Given the description of an element on the screen output the (x, y) to click on. 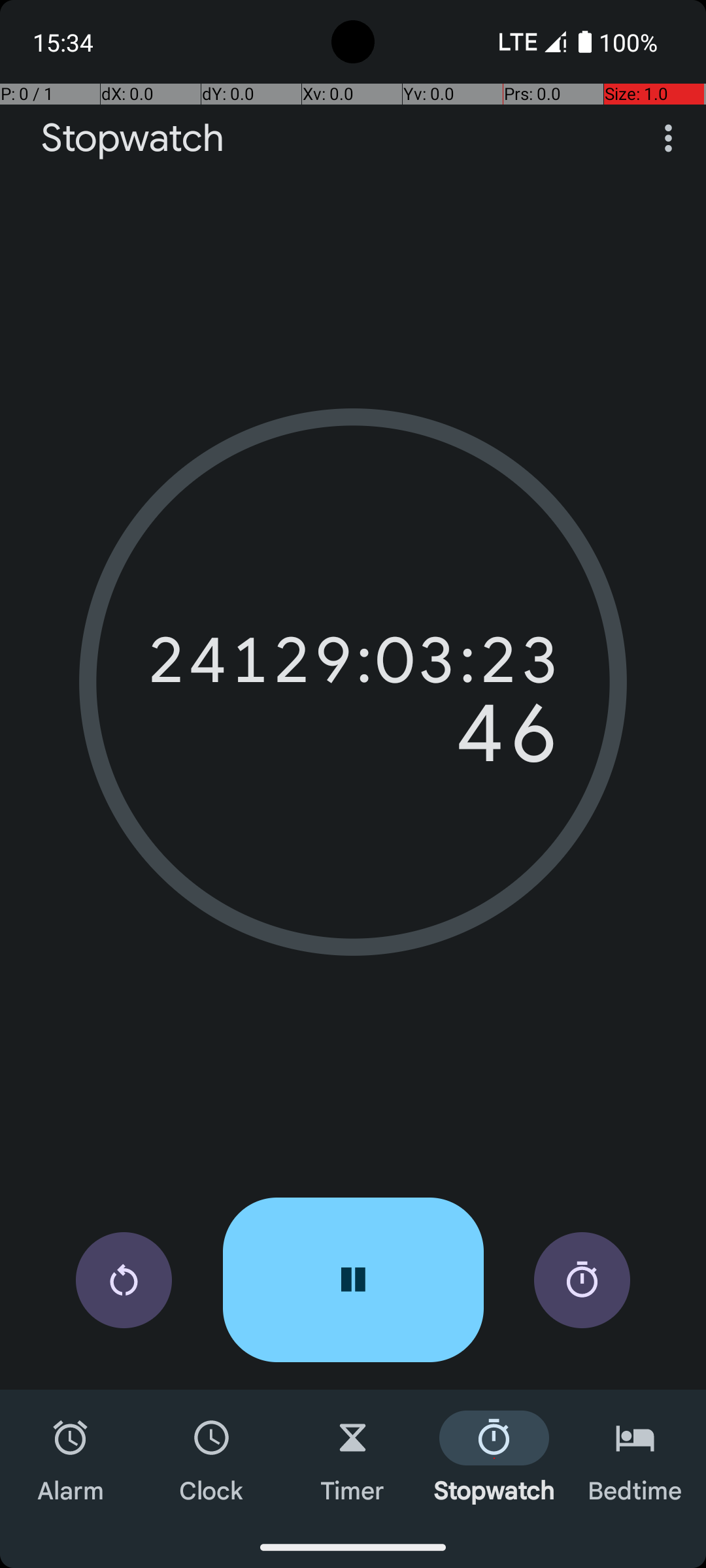
Lap Element type: android.widget.ImageButton (582, 1280)
24129:03:19 Element type: android.widget.TextView (352, 659)
